Given the description of an element on the screen output the (x, y) to click on. 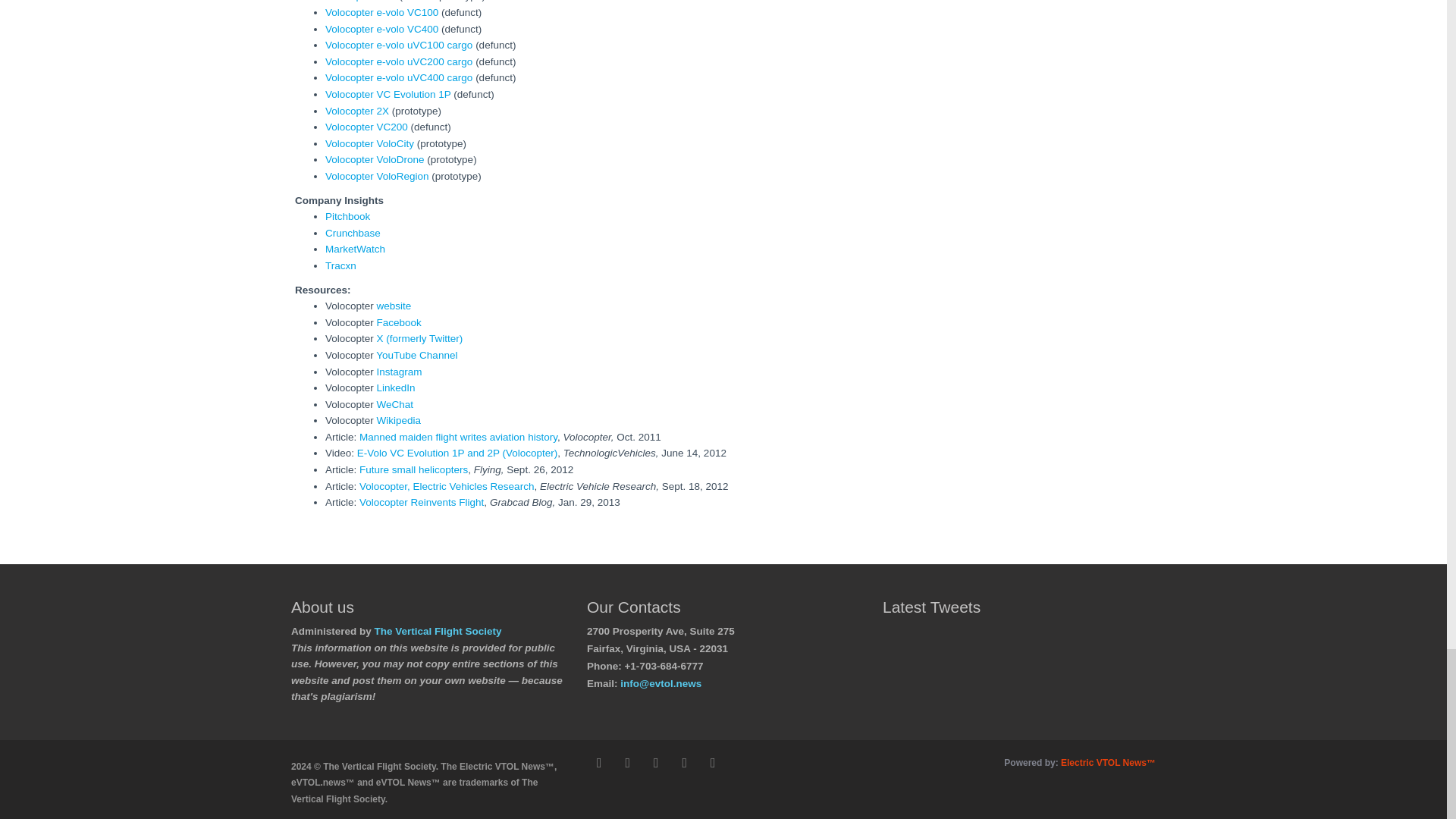
Volocopter VC2 (360, 0)
